Given the description of an element on the screen output the (x, y) to click on. 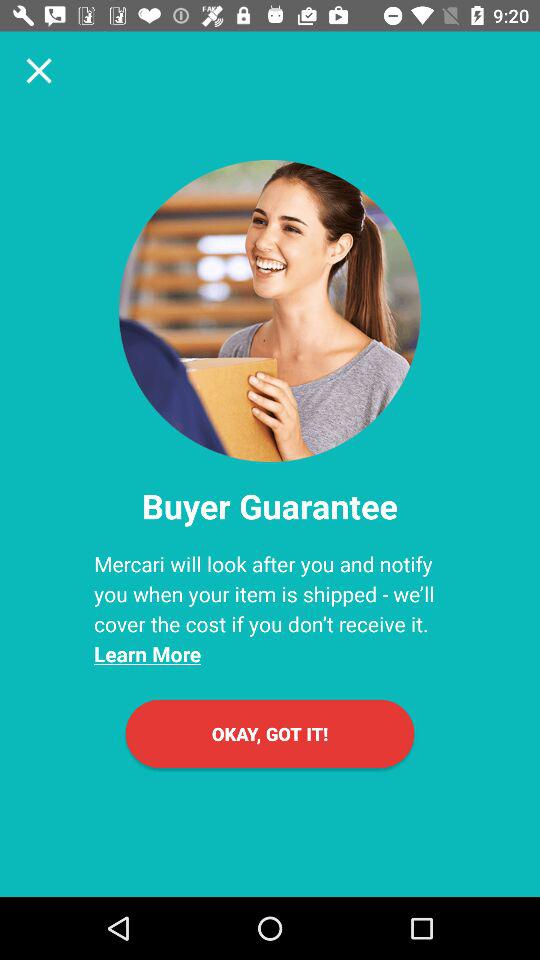
launch mercari will look (269, 608)
